Given the description of an element on the screen output the (x, y) to click on. 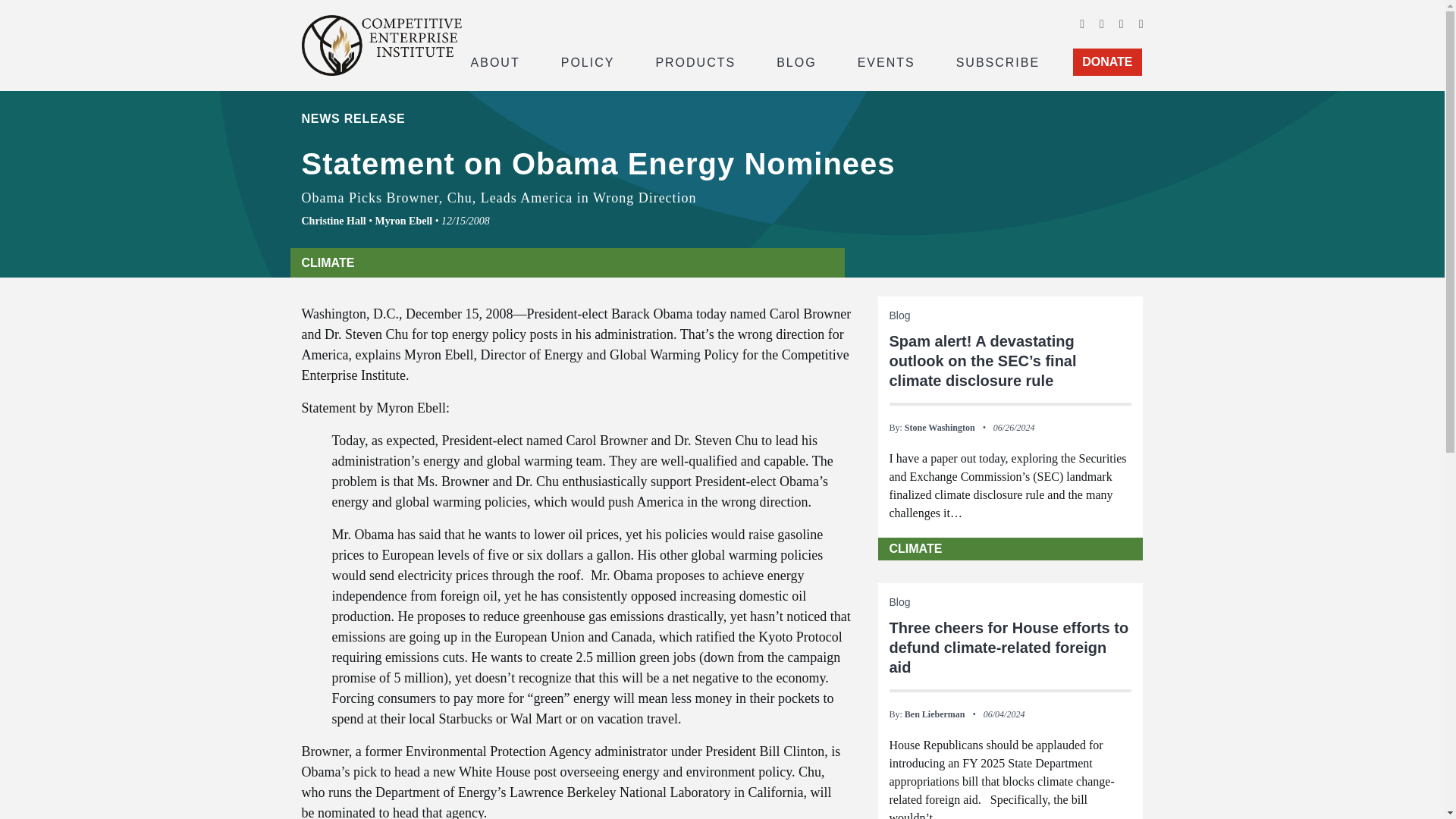
PRODUCTS (694, 61)
SUBSCRIBE (997, 61)
POLICY (588, 61)
EVENTS (886, 61)
DONATE (1107, 62)
ABOUT (495, 61)
BLOG (796, 61)
